Given the description of an element on the screen output the (x, y) to click on. 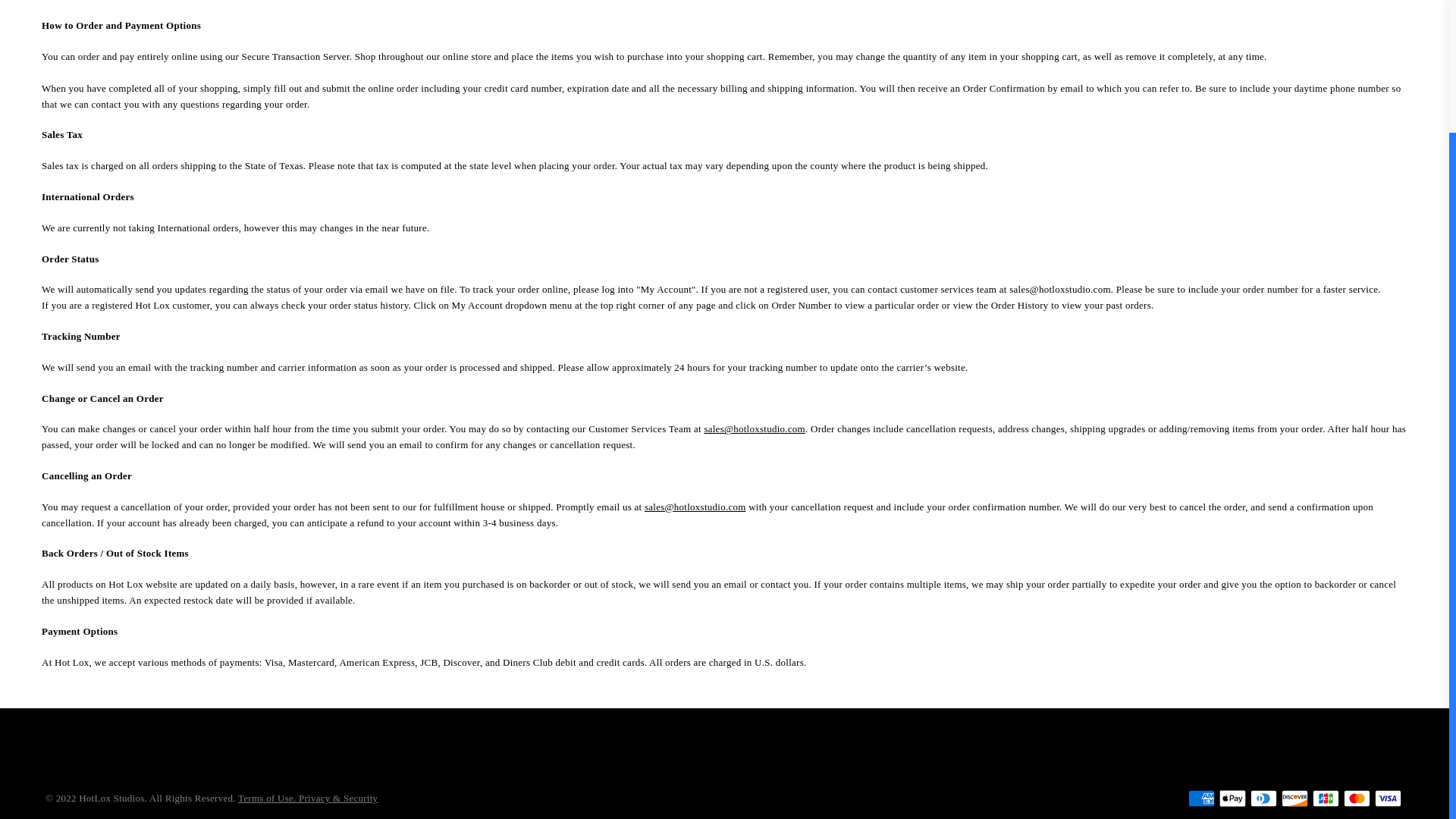
Mastercard (1356, 798)
JCB (1326, 798)
Diners Club (1263, 798)
Visa (1387, 798)
Discover (1294, 798)
American Express (1201, 798)
Apple Pay (1233, 798)
